Given the description of an element on the screen output the (x, y) to click on. 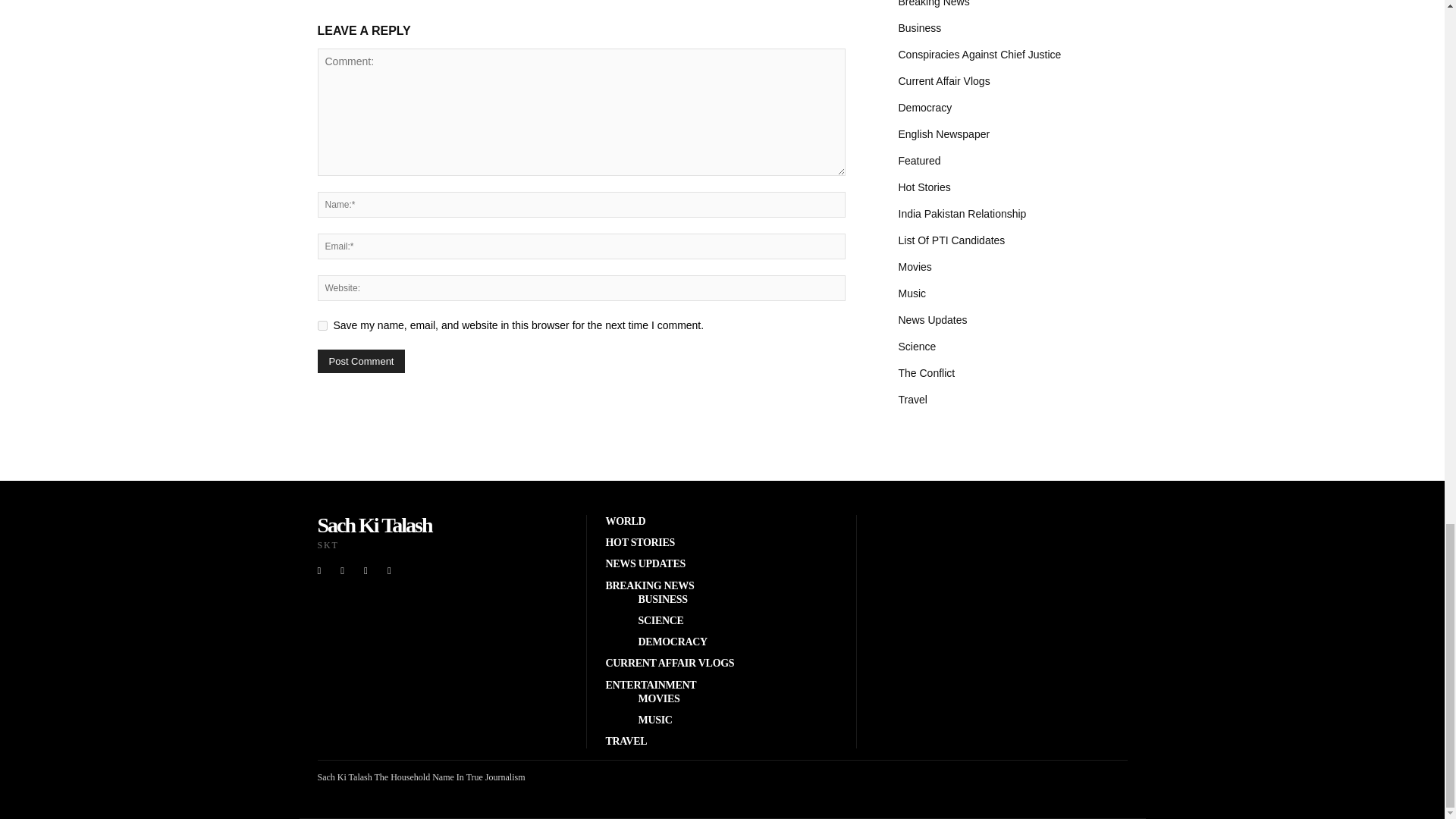
yes (321, 325)
Post Comment (360, 361)
